Given the description of an element on the screen output the (x, y) to click on. 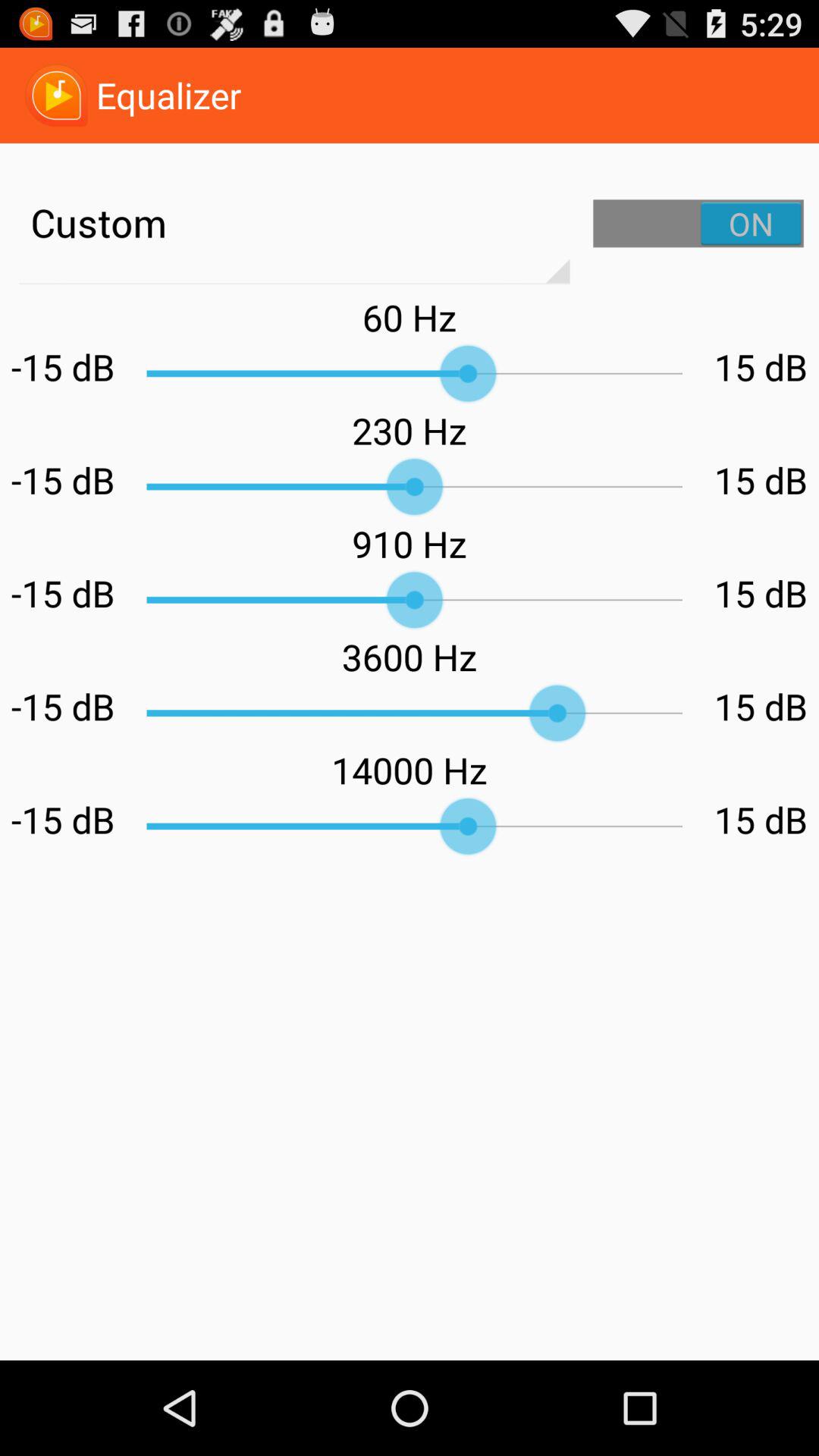
tap the icon above 60 hz icon (698, 223)
